Given the description of an element on the screen output the (x, y) to click on. 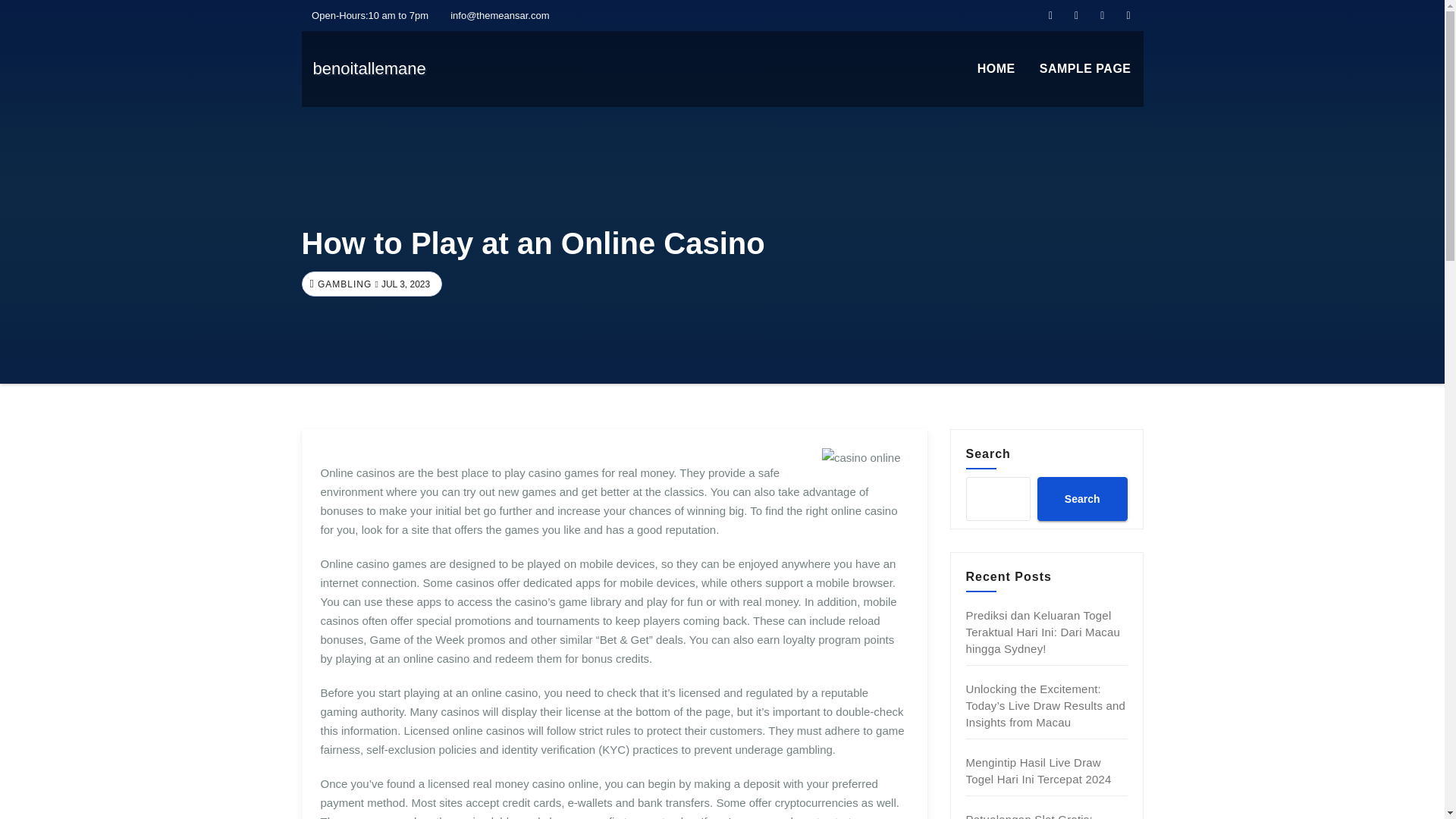
Open-Hours:10 am to 7pm (365, 15)
GAMBLING (342, 284)
Mengintip Hasil Live Draw Togel Hari Ini Tercepat 2024 (1039, 770)
SAMPLE PAGE (1084, 69)
benoitallemane (369, 68)
Search (1081, 498)
